Given the description of an element on the screen output the (x, y) to click on. 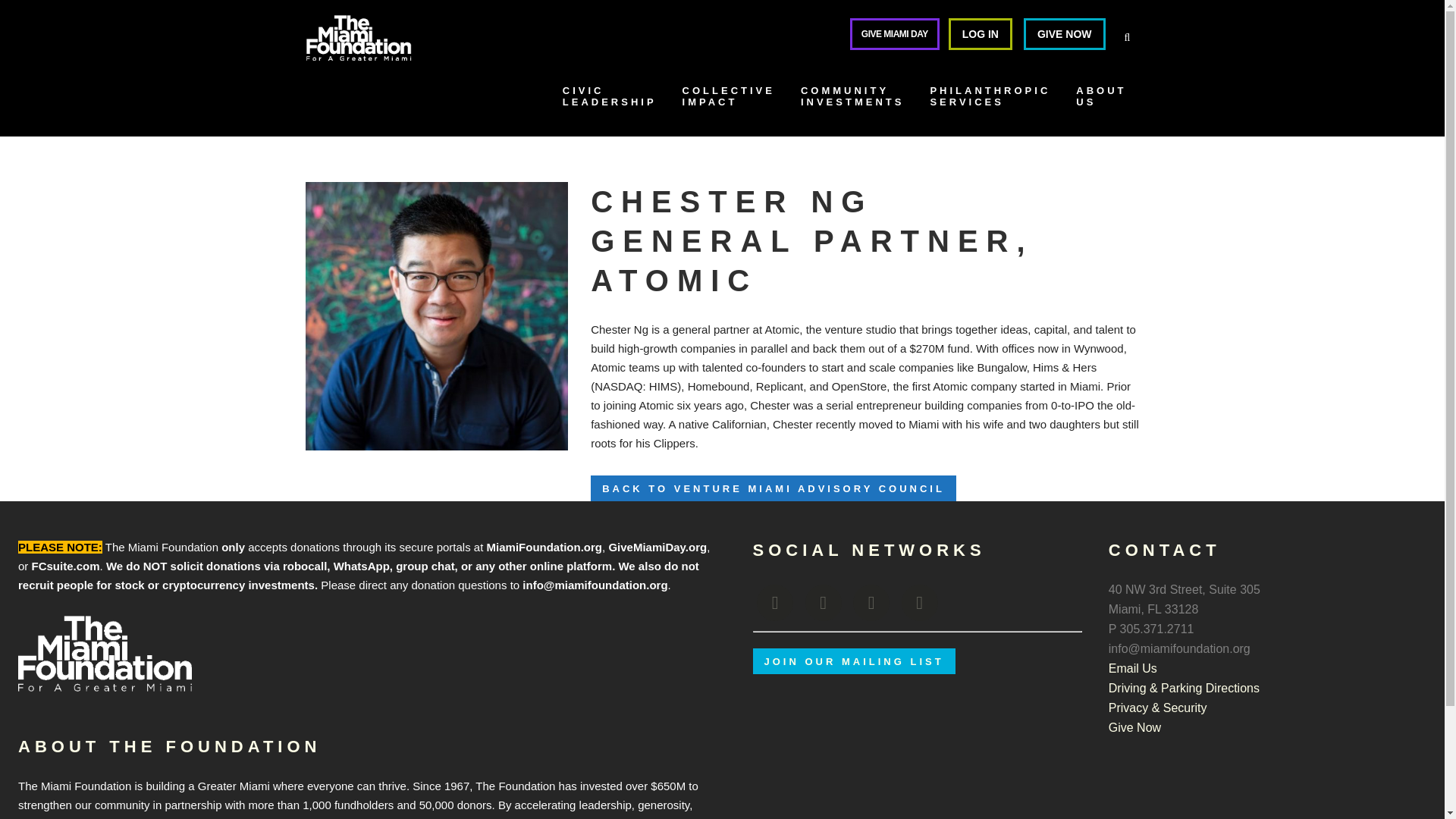
Chester (435, 315)
GIVE NOW (609, 101)
